Given the description of an element on the screen output the (x, y) to click on. 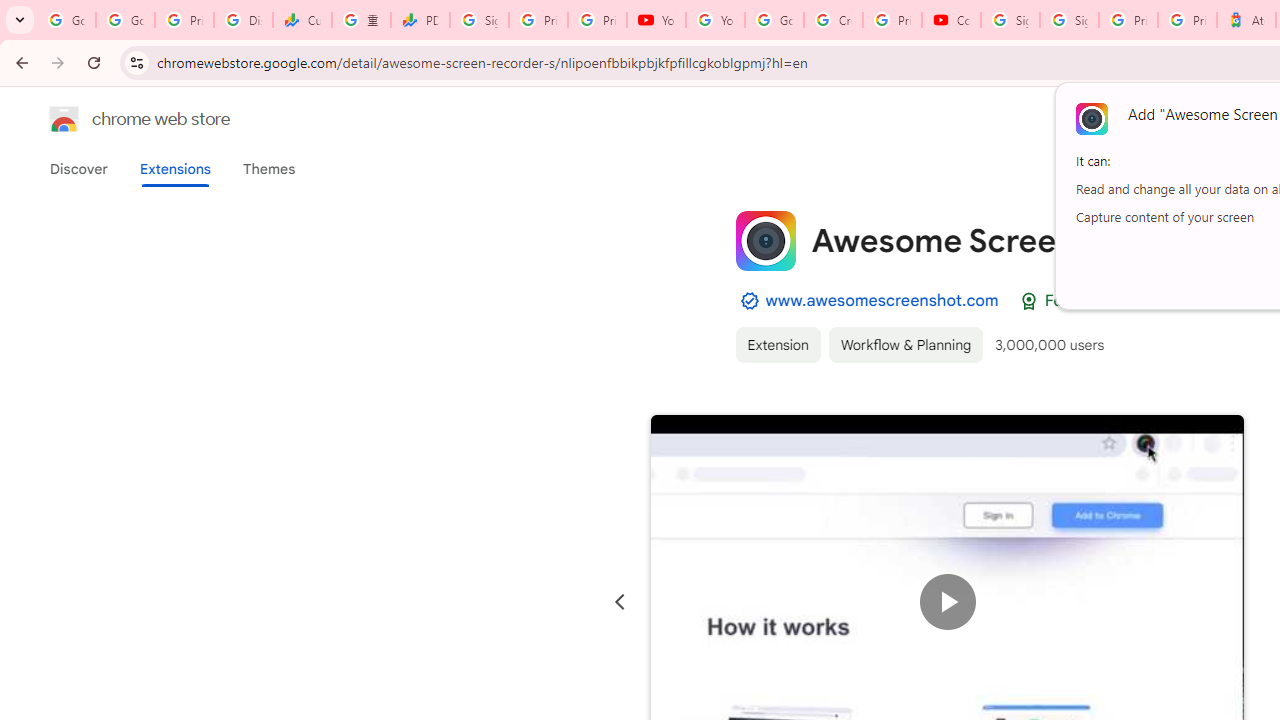
Workflow & Planning (906, 344)
Chrome Web Store logo (63, 118)
Extension (777, 344)
Google Account Help (774, 20)
Item logo image for Awesome Screen Recorder & Screenshot (765, 240)
Content Creator Programs & Opportunities - YouTube Creators (950, 20)
Sign in - Google Accounts (1069, 20)
Currencies - Google Finance (301, 20)
By Established Publisher Badge (749, 301)
